Given the description of an element on the screen output the (x, y) to click on. 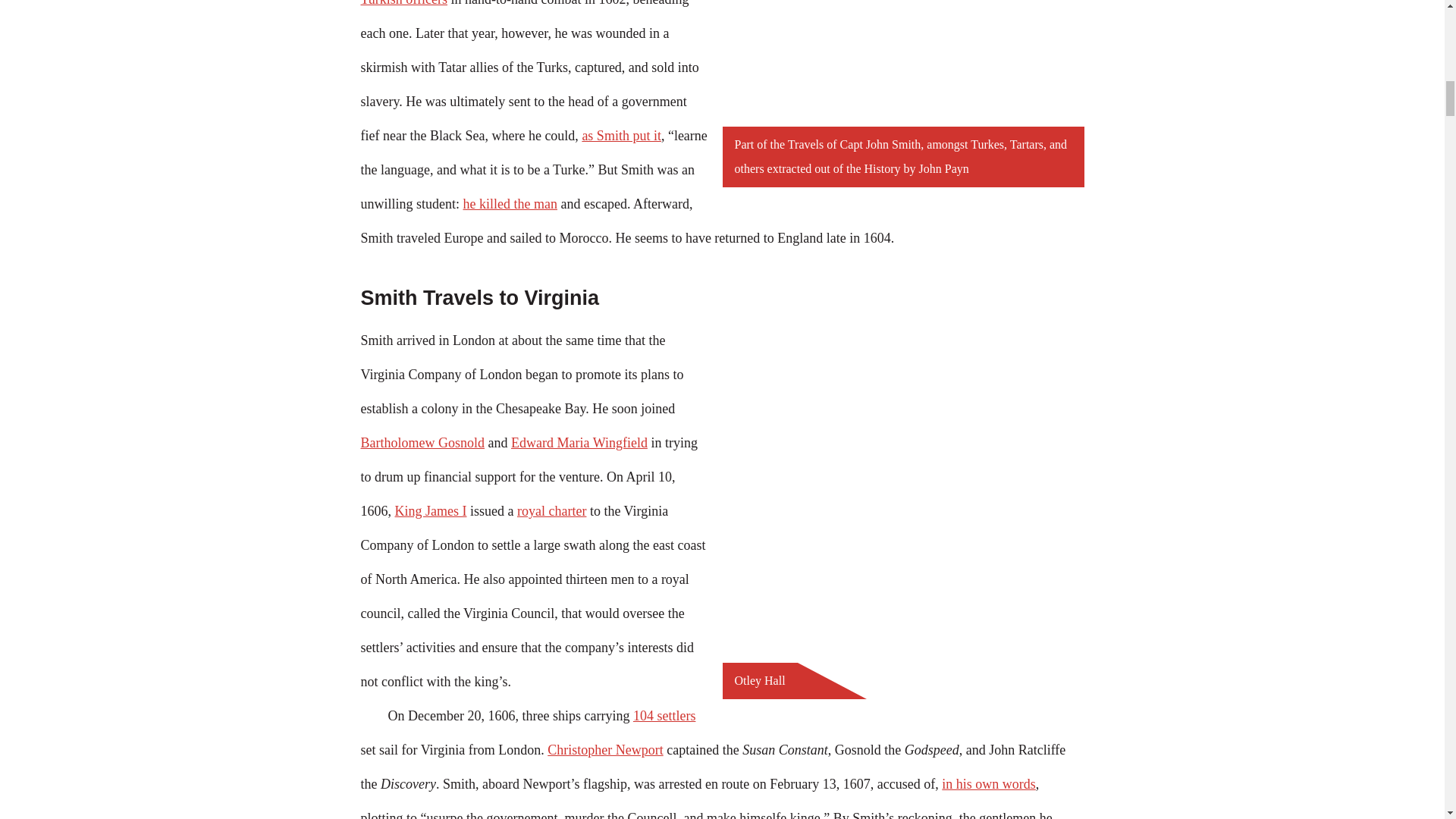
defeated three Turkish officers (522, 3)
